Given the description of an element on the screen output the (x, y) to click on. 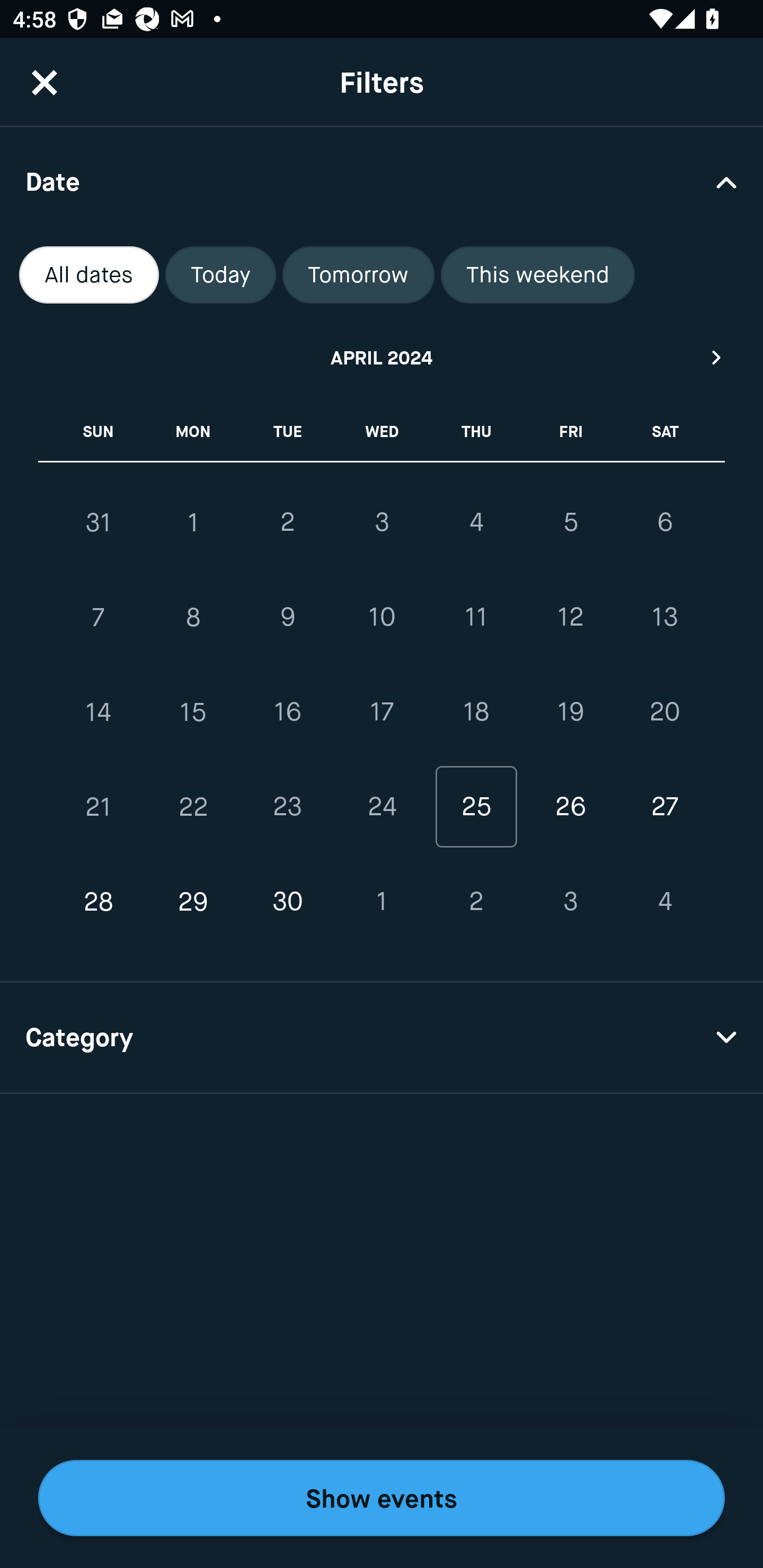
CloseButton (44, 82)
Date Drop Down Arrow (381, 181)
All dates (88, 274)
Today (220, 274)
Tomorrow (358, 274)
This weekend (537, 274)
Next (717, 357)
31 (98, 522)
1 (192, 522)
2 (287, 522)
3 (381, 522)
4 (475, 522)
5 (570, 522)
6 (664, 522)
7 (98, 617)
8 (192, 617)
9 (287, 617)
10 (381, 617)
11 (475, 617)
12 (570, 617)
13 (664, 617)
14 (98, 711)
15 (192, 711)
16 (287, 711)
17 (381, 711)
18 (475, 711)
19 (570, 711)
20 (664, 711)
21 (98, 806)
22 (192, 806)
23 (287, 806)
24 (381, 806)
25 (475, 806)
26 (570, 806)
27 (664, 806)
28 (98, 901)
29 (192, 901)
30 (287, 901)
1 (381, 901)
2 (475, 901)
3 (570, 901)
4 (664, 901)
Category Drop Down Arrow (381, 1038)
Show events (381, 1497)
